Given the description of an element on the screen output the (x, y) to click on. 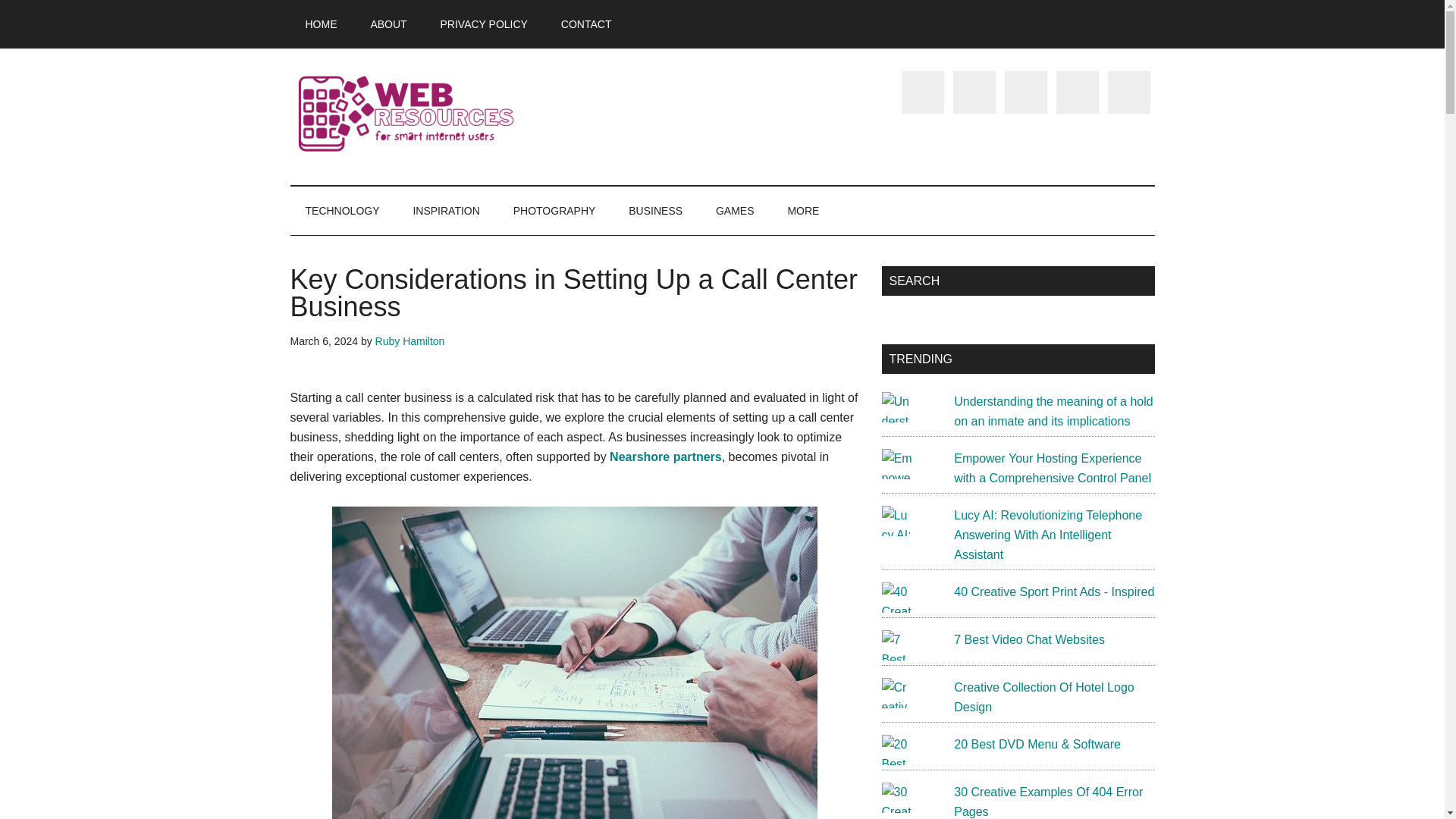
HOME (320, 24)
Creative Collection Of Hotel Logo Design (1043, 696)
PRIVACY POLICY (484, 24)
GAMES (735, 210)
30 Creative Examples Of 404 Error Pages (1047, 801)
Ruby Hamilton (410, 340)
Nearshore partners (666, 456)
ABOUT (388, 24)
